Given the description of an element on the screen output the (x, y) to click on. 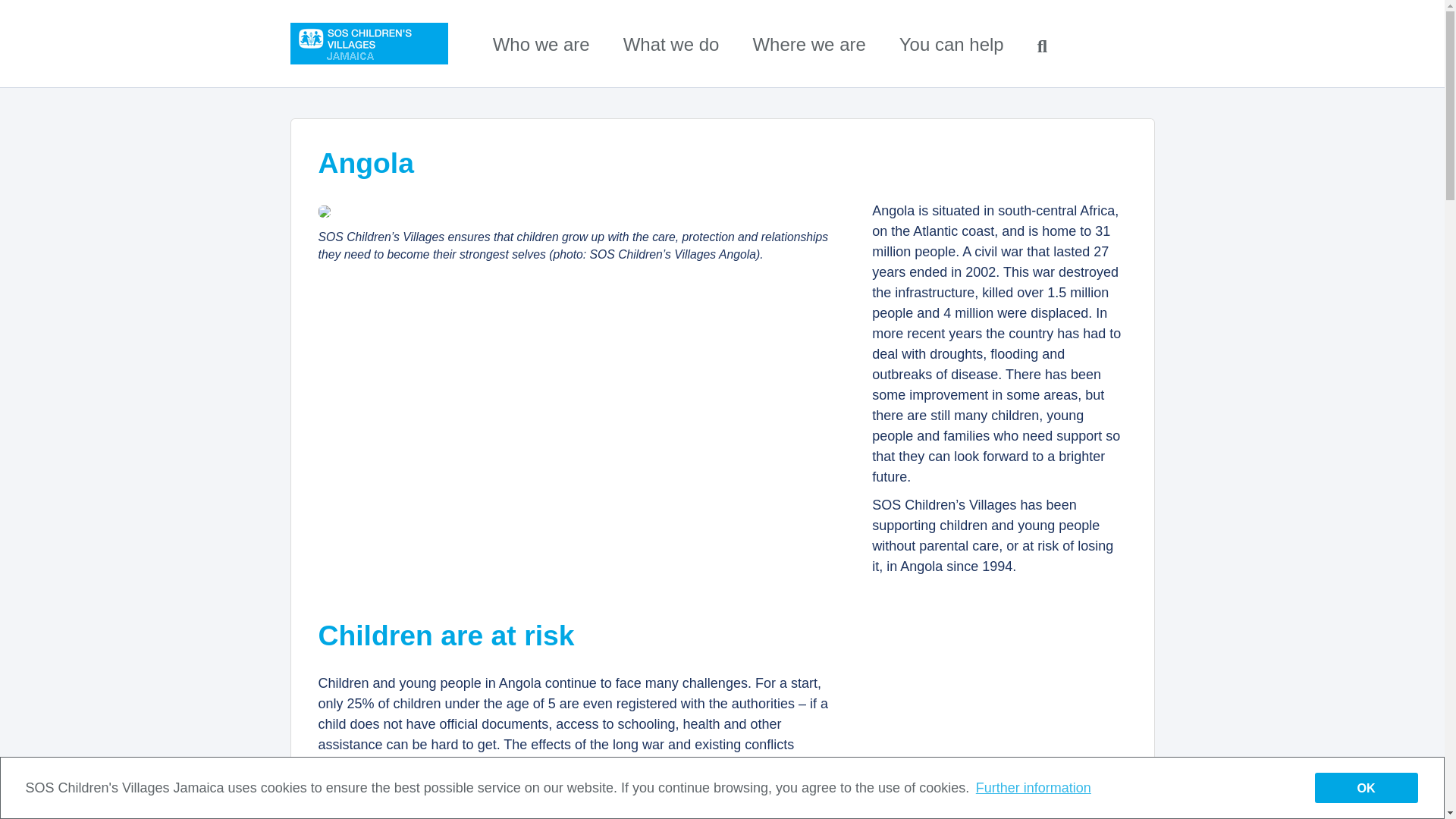
Where we are (808, 44)
What we do (671, 44)
OK (1366, 789)
You can help (951, 44)
Who we are (541, 44)
What we do (671, 44)
Where we are (808, 44)
Who we are (541, 44)
You can help (951, 44)
Further information (1031, 790)
